Given the description of an element on the screen output the (x, y) to click on. 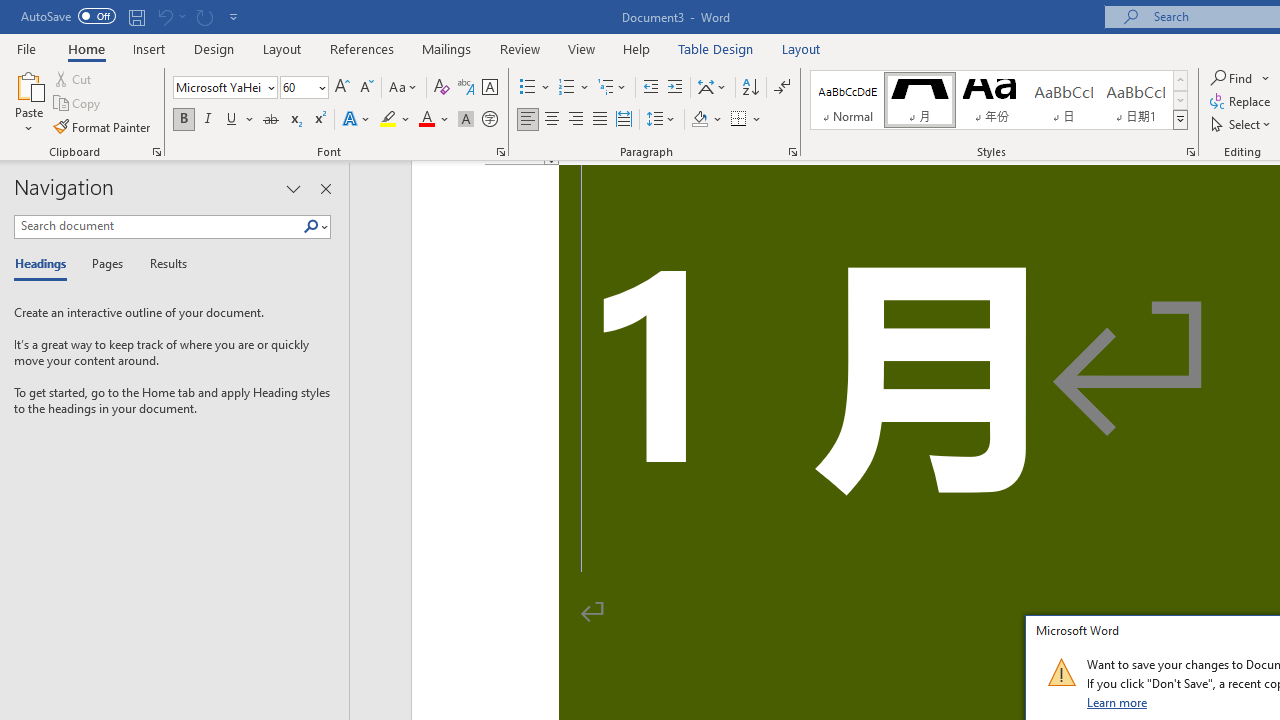
Copy (78, 103)
Change Case (404, 87)
Open (320, 87)
Search document (157, 226)
Line and Paragraph Spacing (661, 119)
Center (552, 119)
Paste (28, 102)
Headings (45, 264)
